Given the description of an element on the screen output the (x, y) to click on. 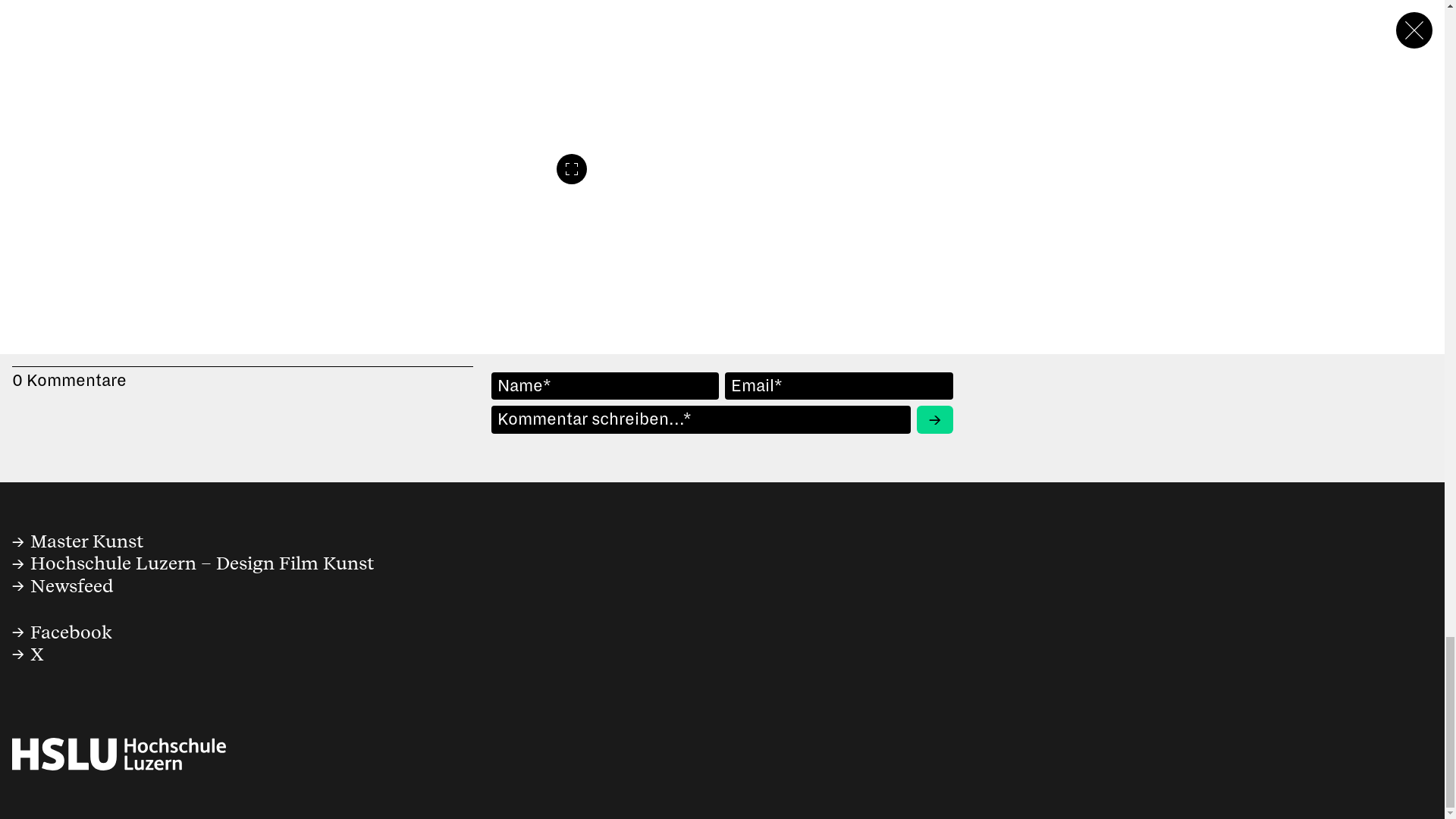
Facebook (61, 632)
ABSENDEN (935, 419)
X (61, 654)
Newsfeed (62, 586)
Master Kunst (76, 541)
Facebook (61, 632)
X (61, 654)
